Given the description of an element on the screen output the (x, y) to click on. 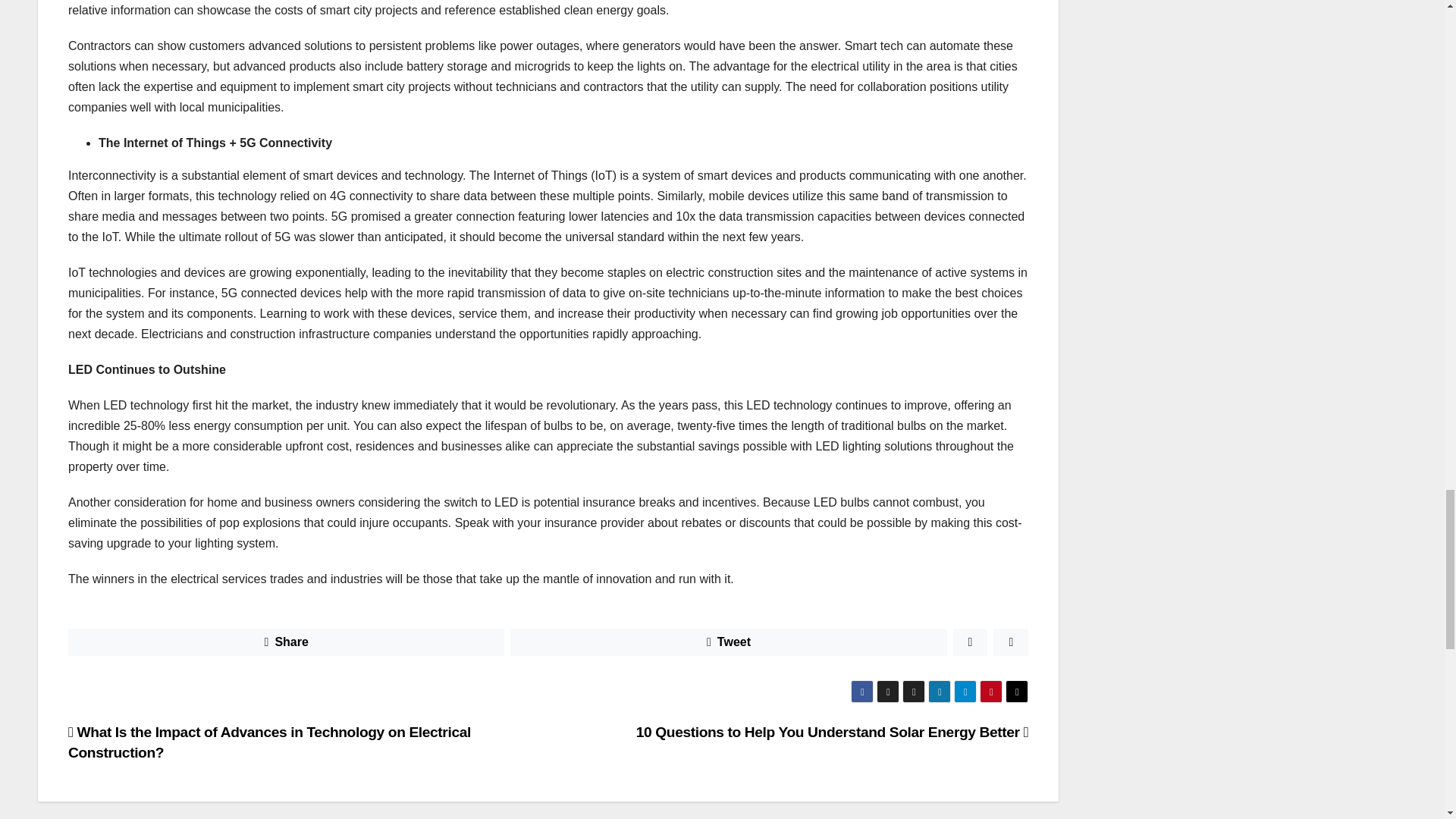
10 Questions to Help You Understand Solar Energy Better (832, 731)
Share (285, 642)
Tweet (728, 642)
